Given the description of an element on the screen output the (x, y) to click on. 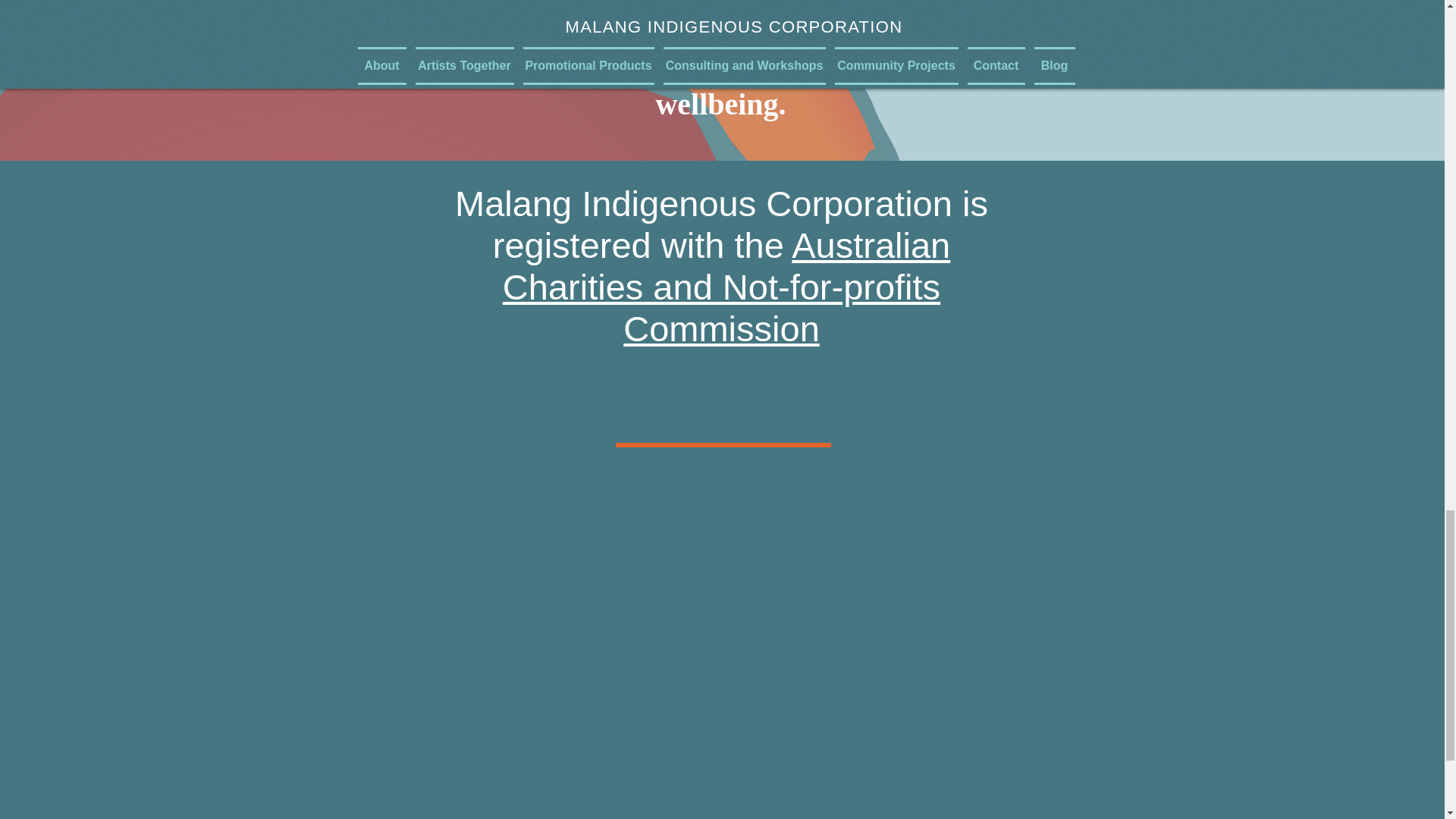
Australian Charities and Not-for-profits Commission (726, 286)
